Given the description of an element on the screen output the (x, y) to click on. 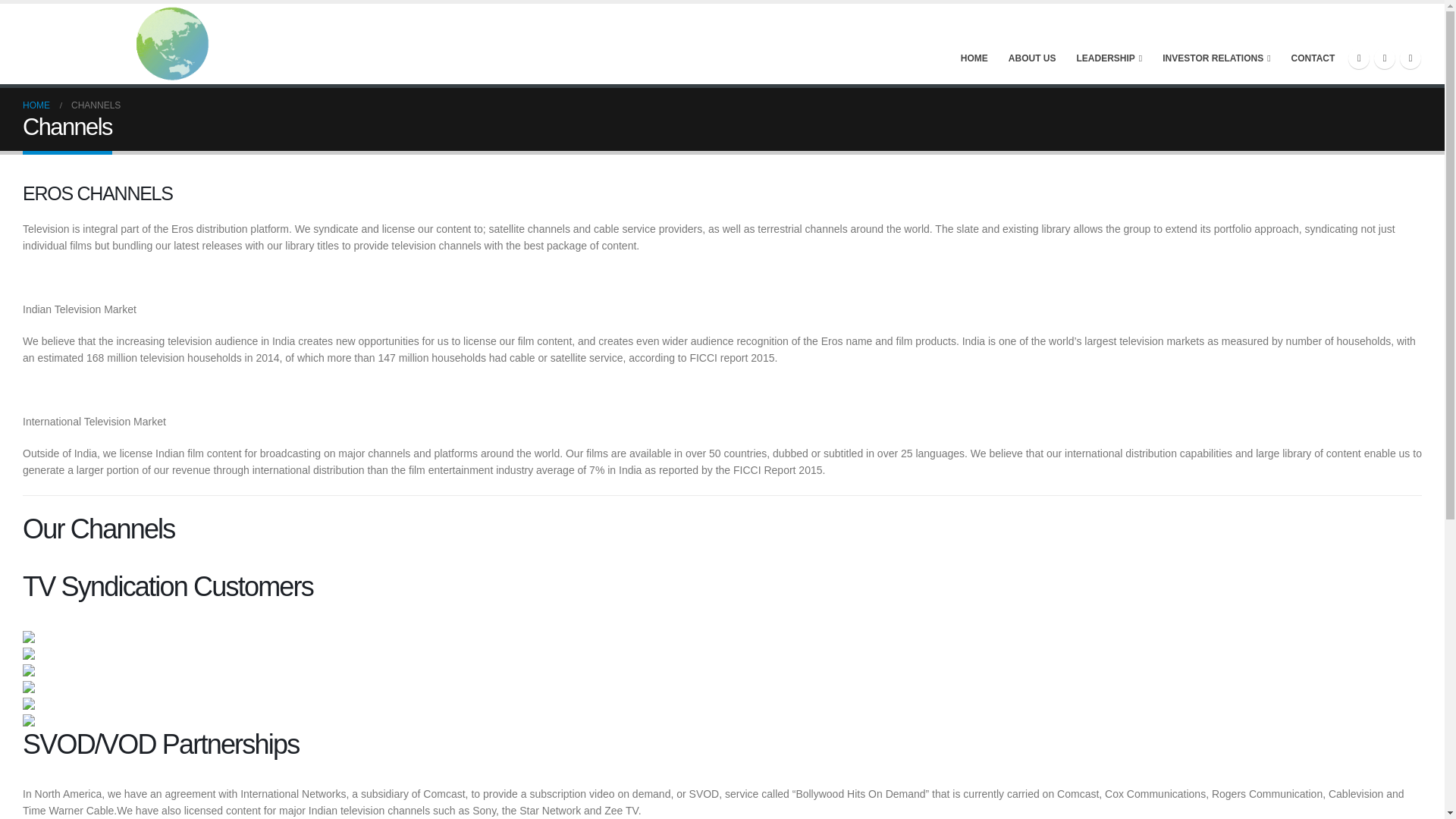
HOME (36, 105)
Facebook (1359, 56)
Twitter (1384, 56)
INVESTOR RELATIONS (1216, 42)
LEADERSHIP (1110, 42)
Youtube (1410, 56)
Go to Home Page (36, 105)
